Given the description of an element on the screen output the (x, y) to click on. 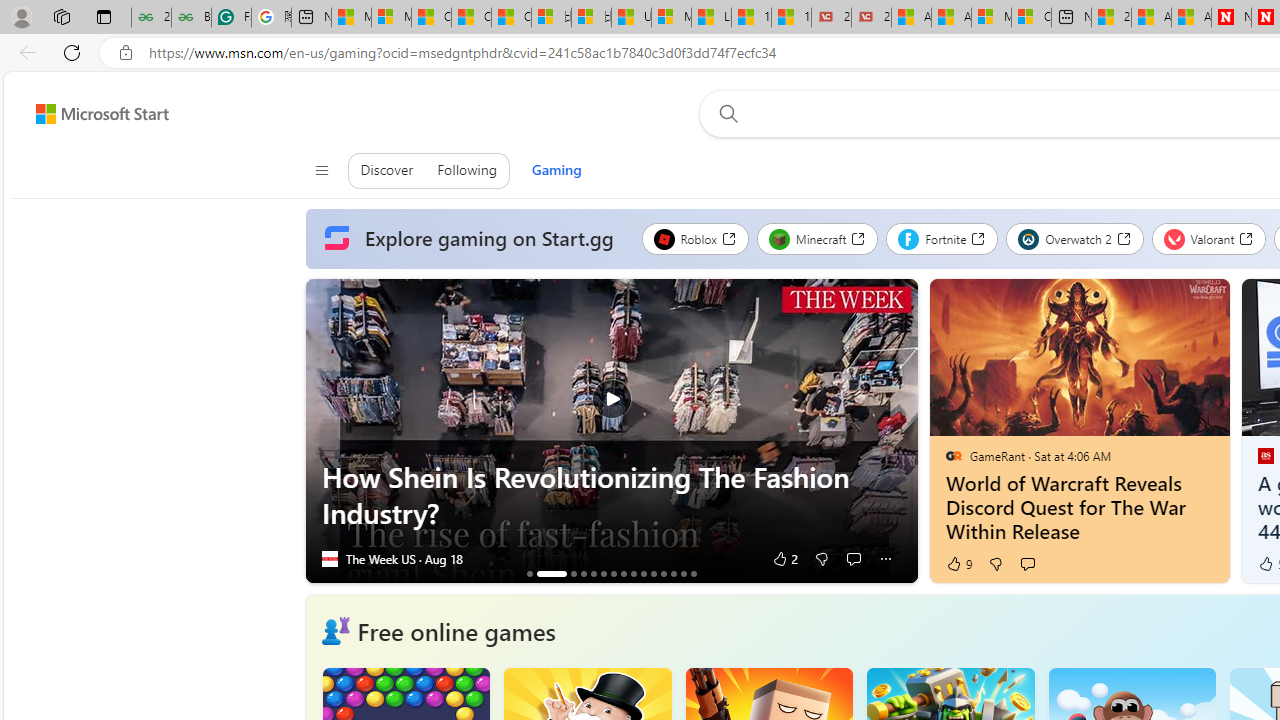
Lifestyle - MSN (711, 17)
CYGNI: All Guns Blazing | Official Launch Trailer (583, 573)
Starfield: How To Use Your Spaceship (663, 573)
How Shein Is Revolutionizing The Fashion Industry? (611, 495)
Newsweek - News, Analysis, Politics, Business, Technology (1231, 17)
Get $450 Savings on Dell G16 Gaming Laptop (693, 573)
